Given the description of an element on the screen output the (x, y) to click on. 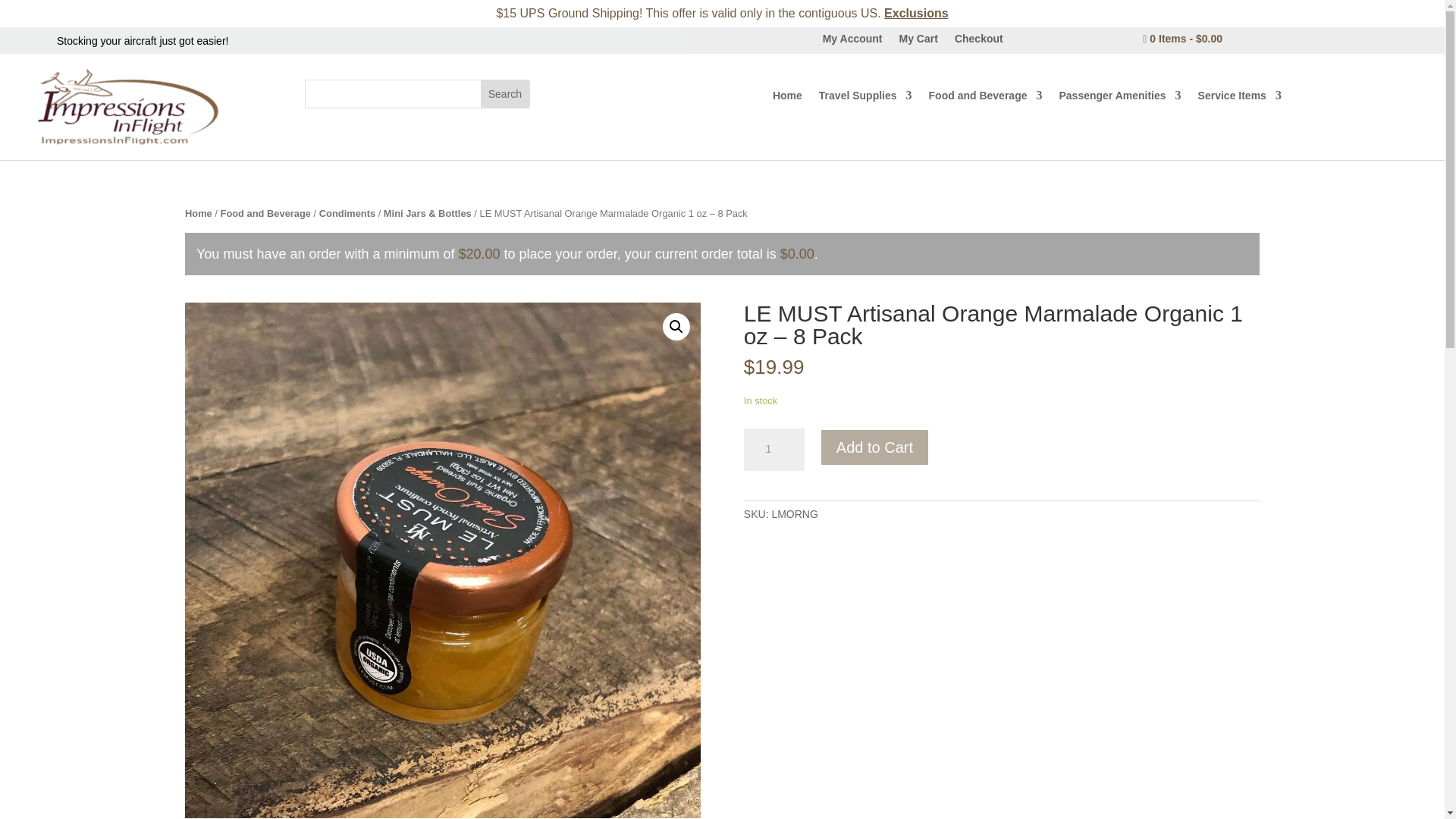
Exclusions (915, 12)
Cart (1182, 38)
Search (504, 93)
My Account (852, 41)
Food and Beverage (985, 98)
My Cart (918, 41)
iif-logo-dark-gold (129, 106)
Search (504, 93)
1 (774, 449)
Travel Supplies (865, 98)
